Given the description of an element on the screen output the (x, y) to click on. 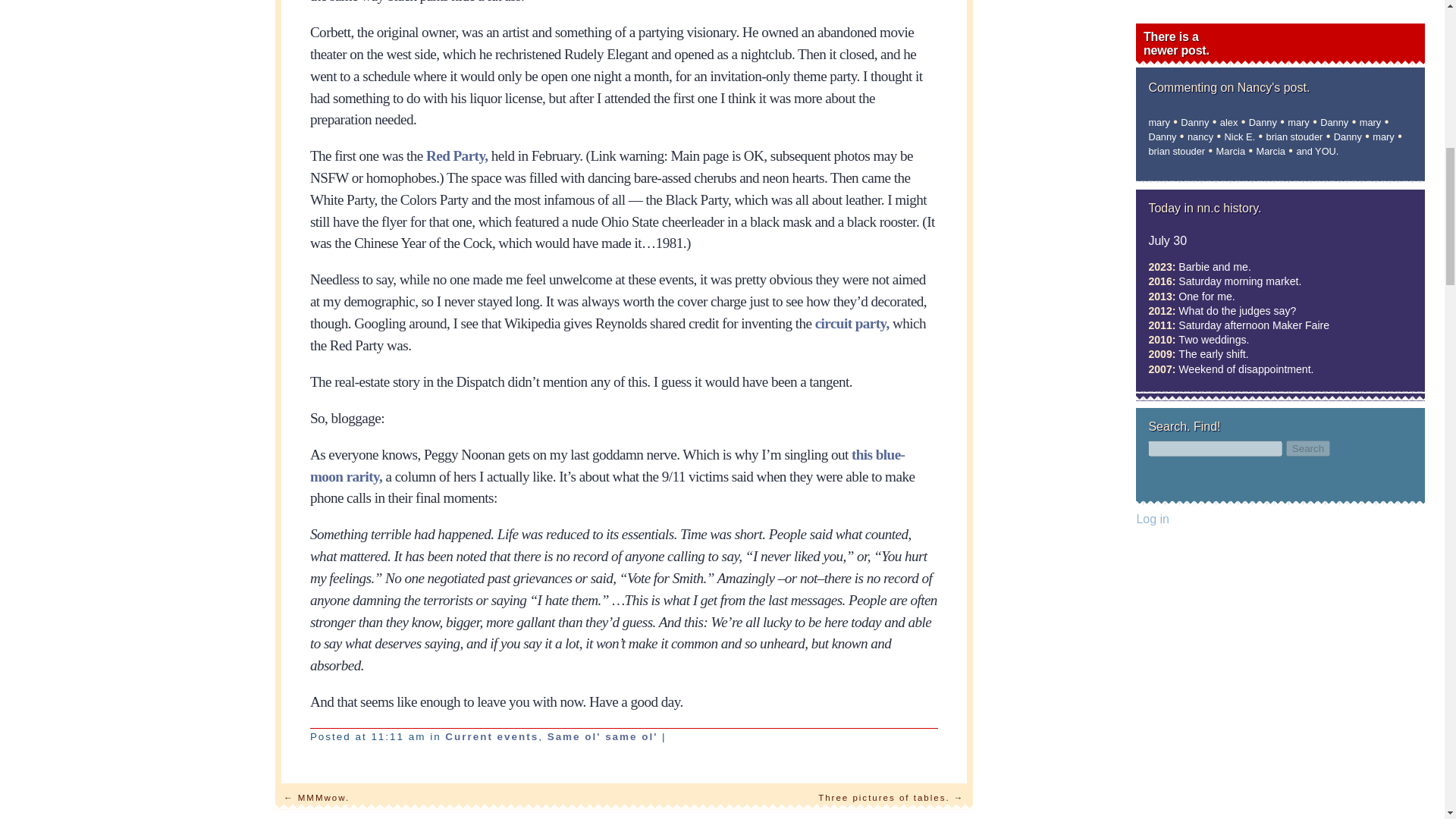
Same ol' same ol' (602, 736)
circuit party, (852, 323)
Current events (491, 736)
this blue-moon rarity, (607, 465)
Red Party, (456, 155)
